Given the description of an element on the screen output the (x, y) to click on. 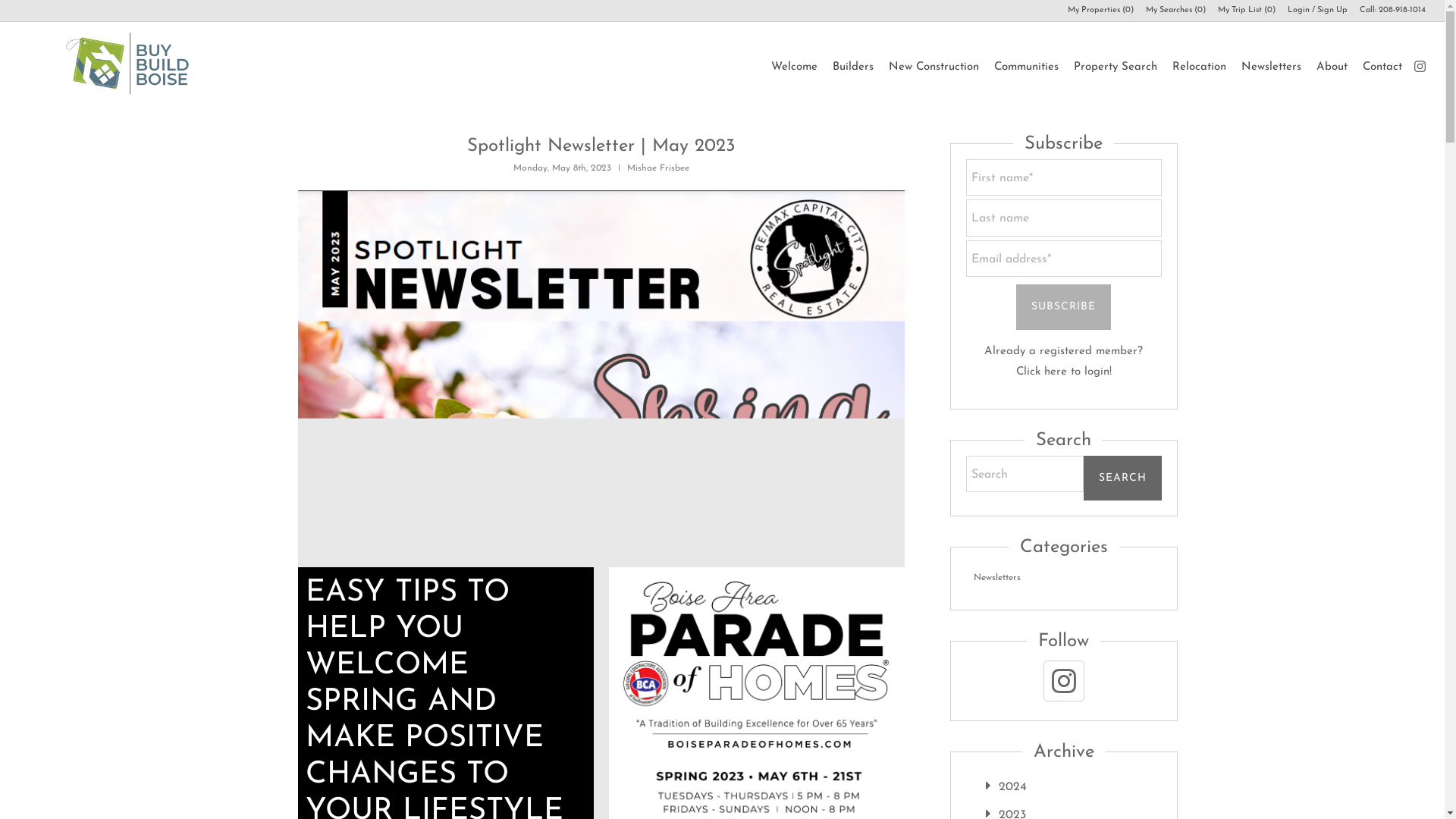
Builders (852, 66)
Contact (1381, 66)
Visit me on Instagram (1419, 66)
Communities (1025, 66)
Newsletters (1270, 66)
208-918-1014 (1401, 9)
Visit me on Instagram (1063, 680)
Search (1121, 478)
Property Search (1114, 66)
Welcome (793, 66)
